Given the description of an element on the screen output the (x, y) to click on. 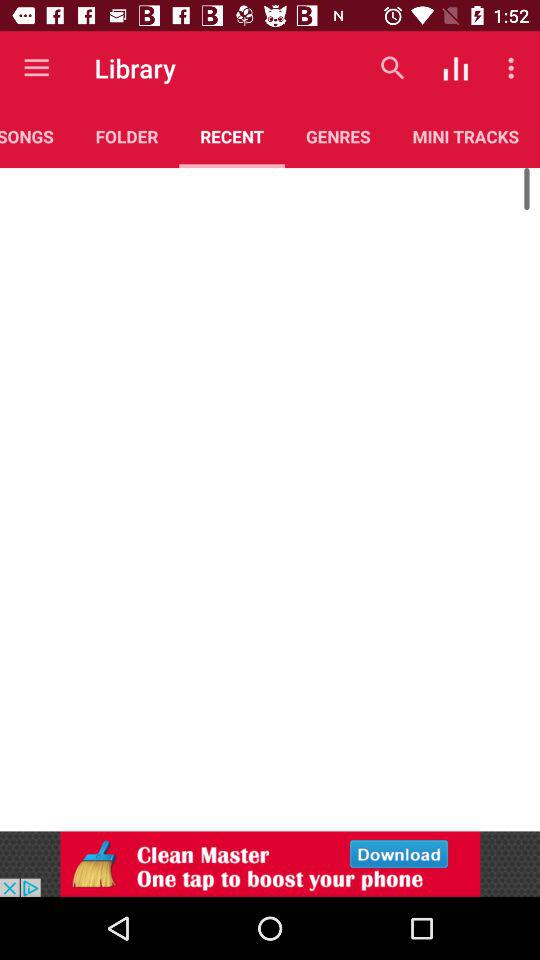
click on advertisement (270, 864)
